Given the description of an element on the screen output the (x, y) to click on. 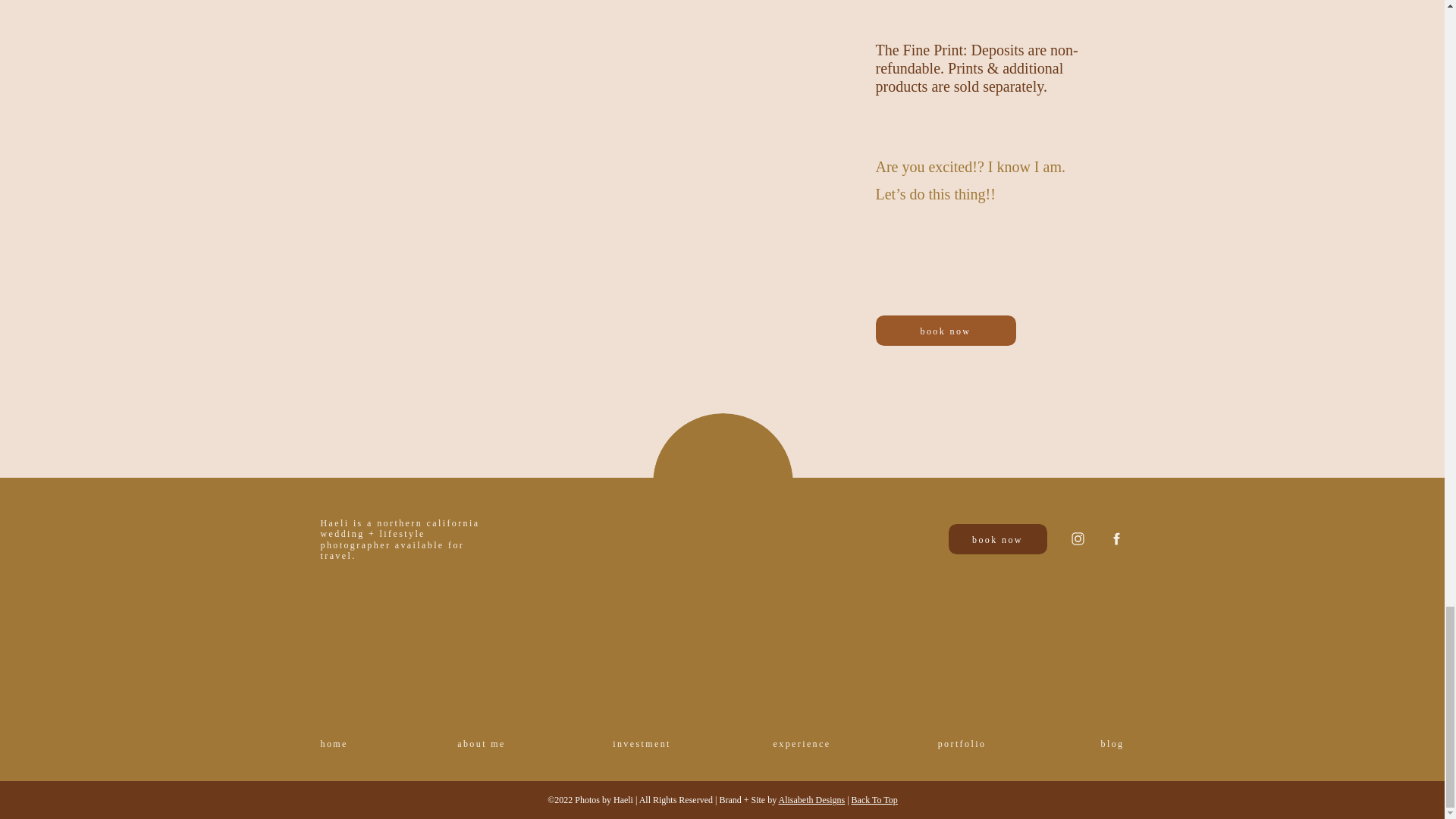
book now (996, 538)
investment (641, 742)
Back To Top (874, 799)
experience (801, 742)
book now (944, 329)
home (341, 742)
Alisabeth Designs (811, 799)
about me (481, 742)
blog (1102, 742)
portfolio (961, 742)
